Given the description of an element on the screen output the (x, y) to click on. 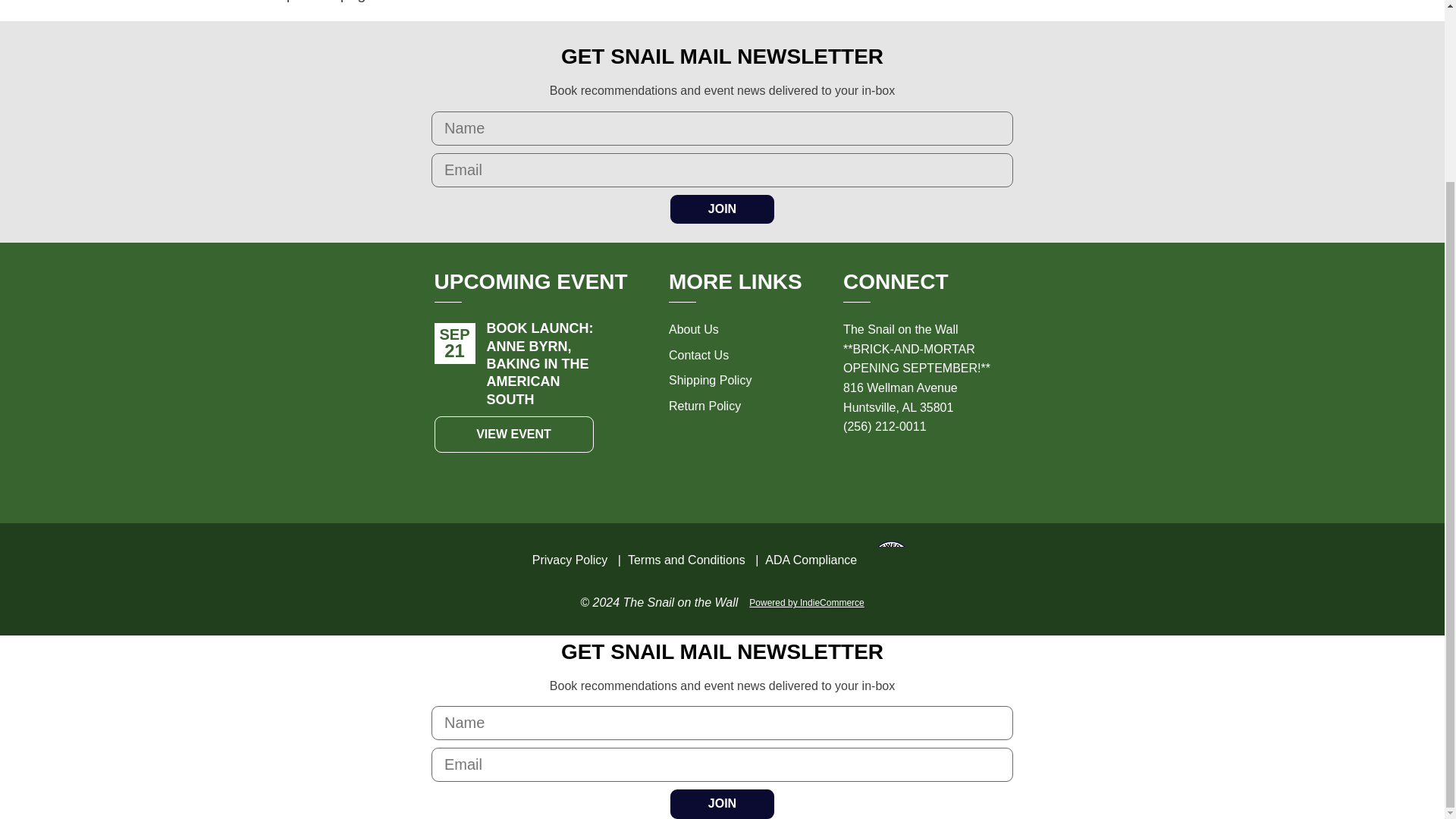
Shipping Policy (709, 379)
Connect with Facebook (885, 469)
Connect with Youtube Channel (951, 469)
Privacy Policy (570, 559)
Terms and Conditions (686, 559)
About Us (693, 328)
Join (721, 208)
Return Policy (704, 405)
Contact Us (698, 354)
Connect with Instagram (852, 469)
